Given the description of an element on the screen output the (x, y) to click on. 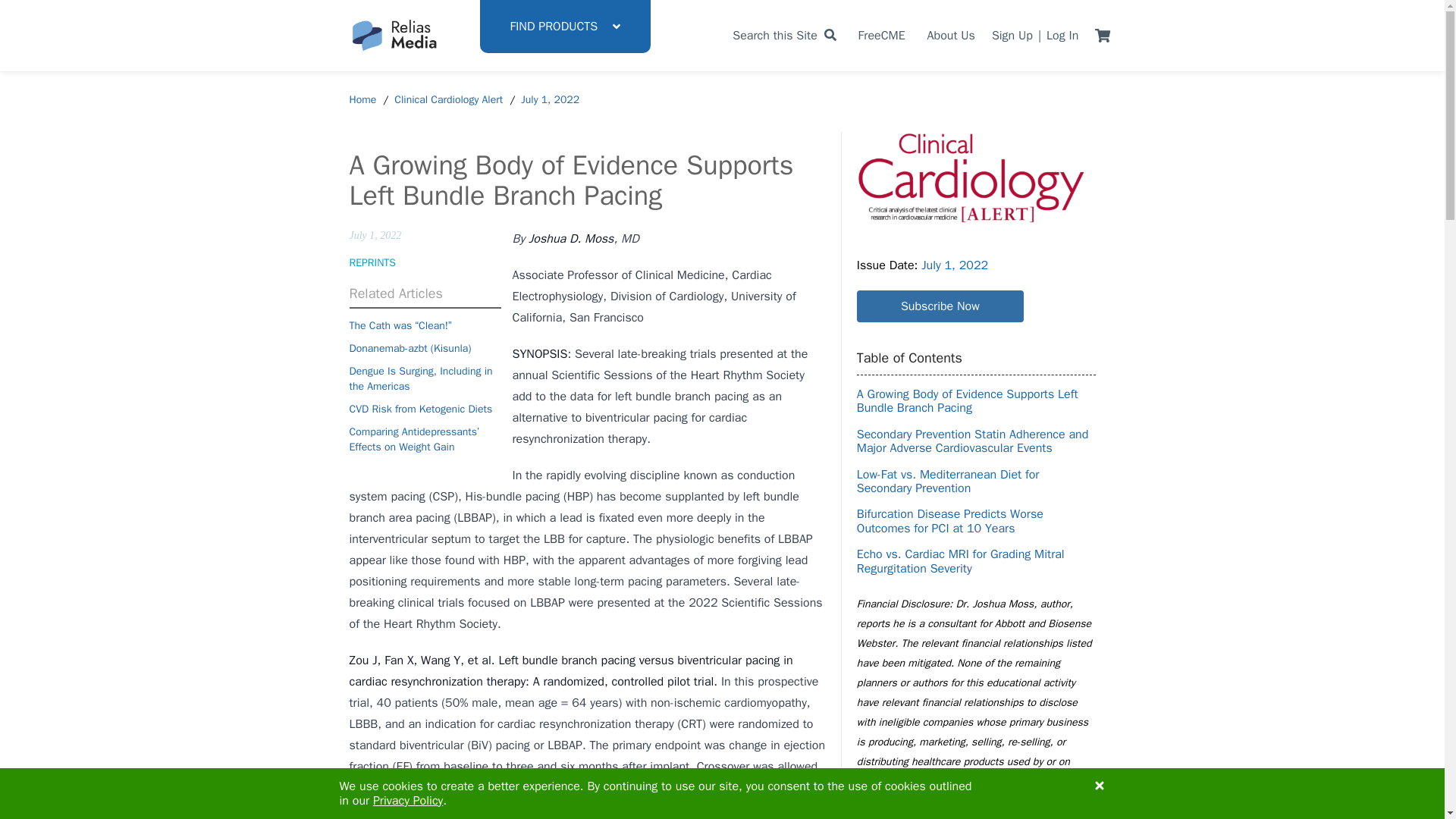
Search this Site (783, 35)
Clinical Cardiology Alert (448, 99)
Home (362, 99)
Log In (1062, 35)
FIND PRODUCTS (564, 26)
July 1, 2022 (550, 99)
Sign Up (1011, 35)
About Us (951, 35)
FreeCME (882, 35)
